Given the description of an element on the screen output the (x, y) to click on. 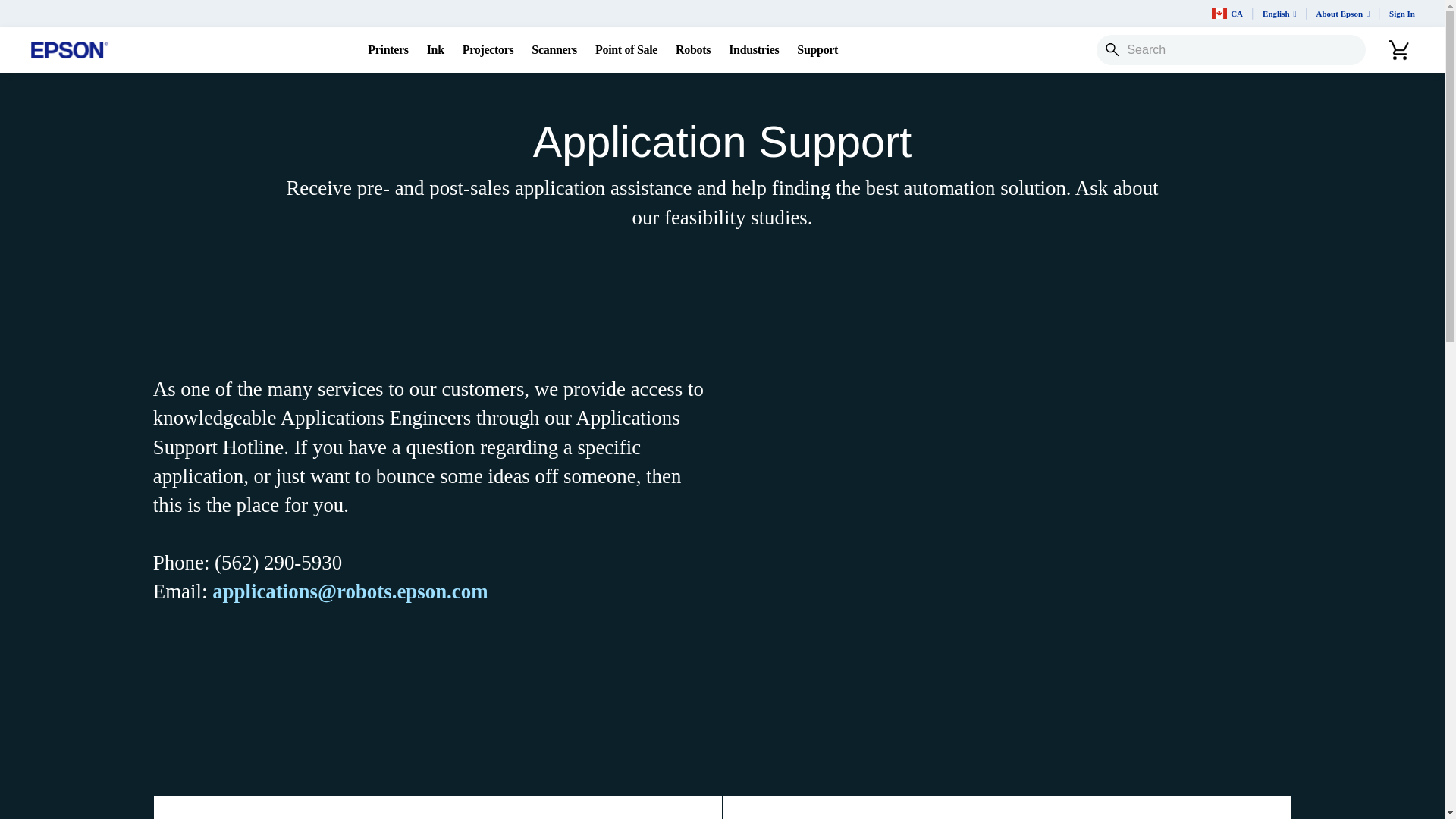
Epson Logo (69, 49)
Sign In (1401, 13)
CA (1227, 13)
English (1279, 13)
English (1279, 13)
CA (1227, 13)
About Epson (1342, 13)
Sign In (1401, 13)
